Given the description of an element on the screen output the (x, y) to click on. 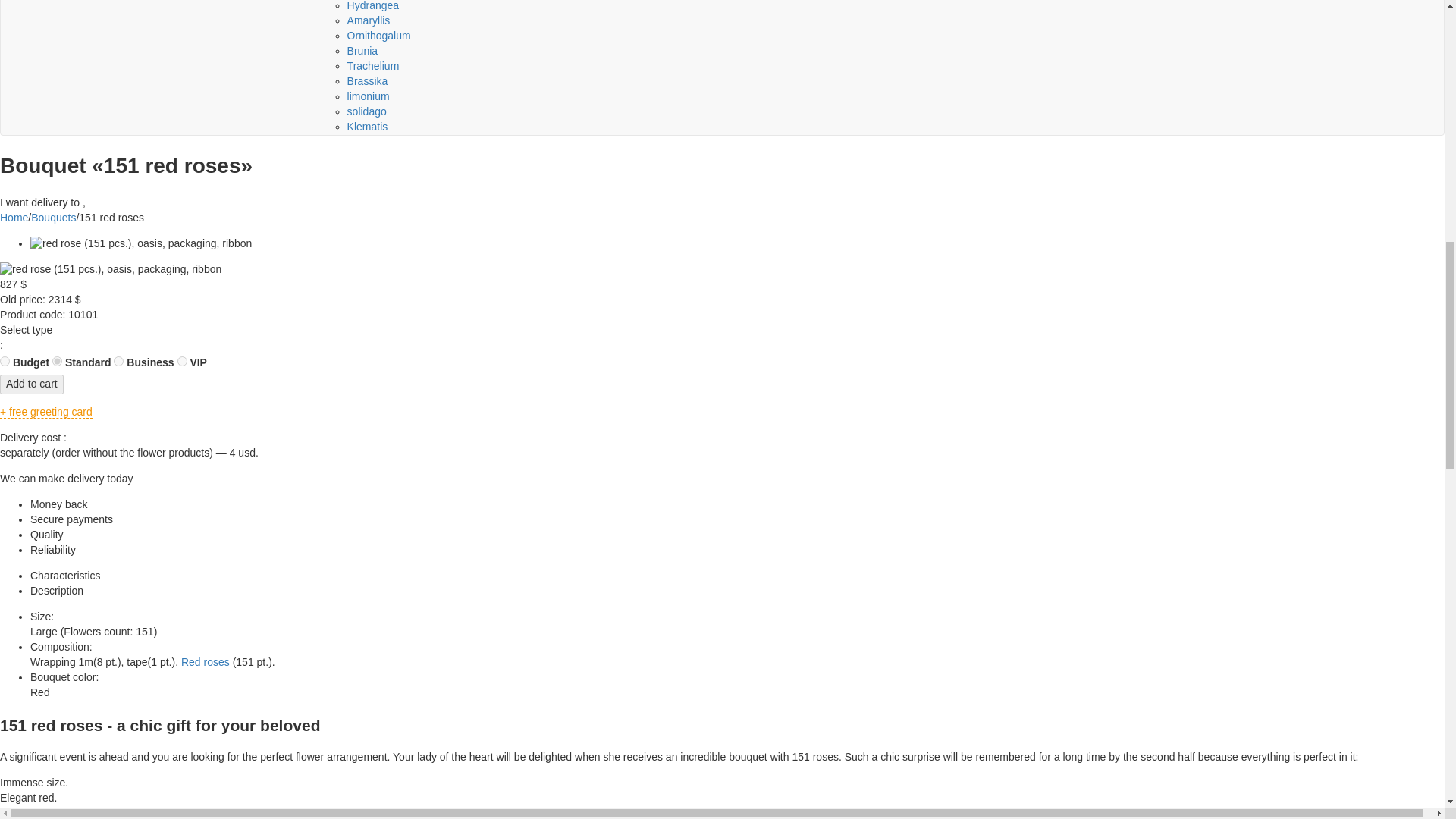
standart (57, 361)
Bouquets (52, 217)
budget (5, 361)
Home page (13, 217)
Add to cart (32, 383)
business (118, 361)
vip (182, 361)
